Given the description of an element on the screen output the (x, y) to click on. 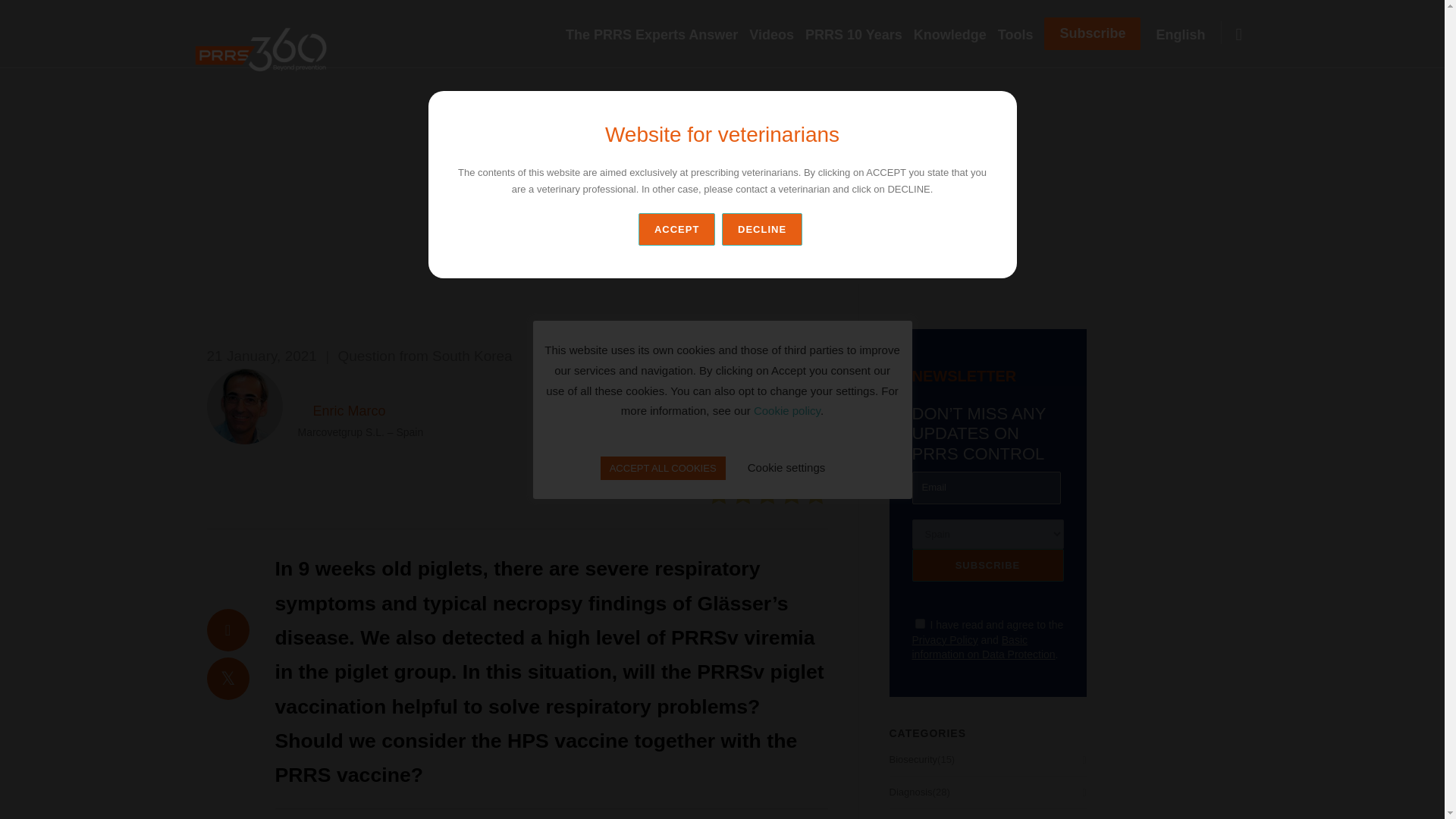
DECLINE (762, 228)
Subscribe (1091, 33)
ACCEPT (676, 228)
English (1185, 35)
DECLINE (764, 229)
PRRS 10 Years (859, 35)
1 (919, 623)
Tools (1021, 35)
English (1185, 35)
Knowledge (955, 35)
Subscribe (986, 564)
The PRRS Experts Answer (657, 35)
Videos (777, 35)
